Given the description of an element on the screen output the (x, y) to click on. 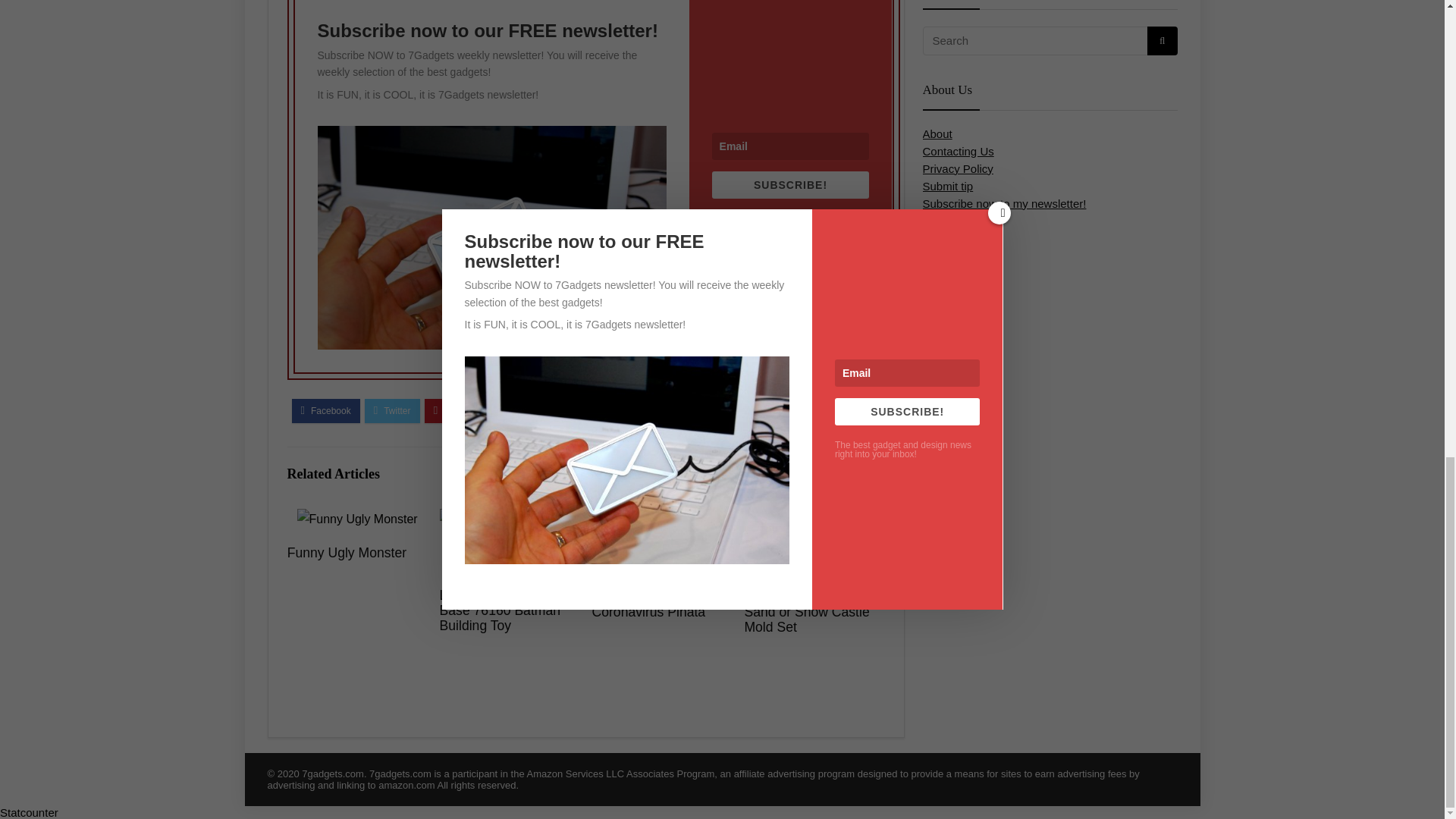
LEGO DC Mobile Bat Base 76160 Batman Building Toy (502, 610)
SUBSCRIBE! (790, 185)
Funny Ugly Monster (346, 552)
Coronavirus Pinata (647, 611)
